Given the description of an element on the screen output the (x, y) to click on. 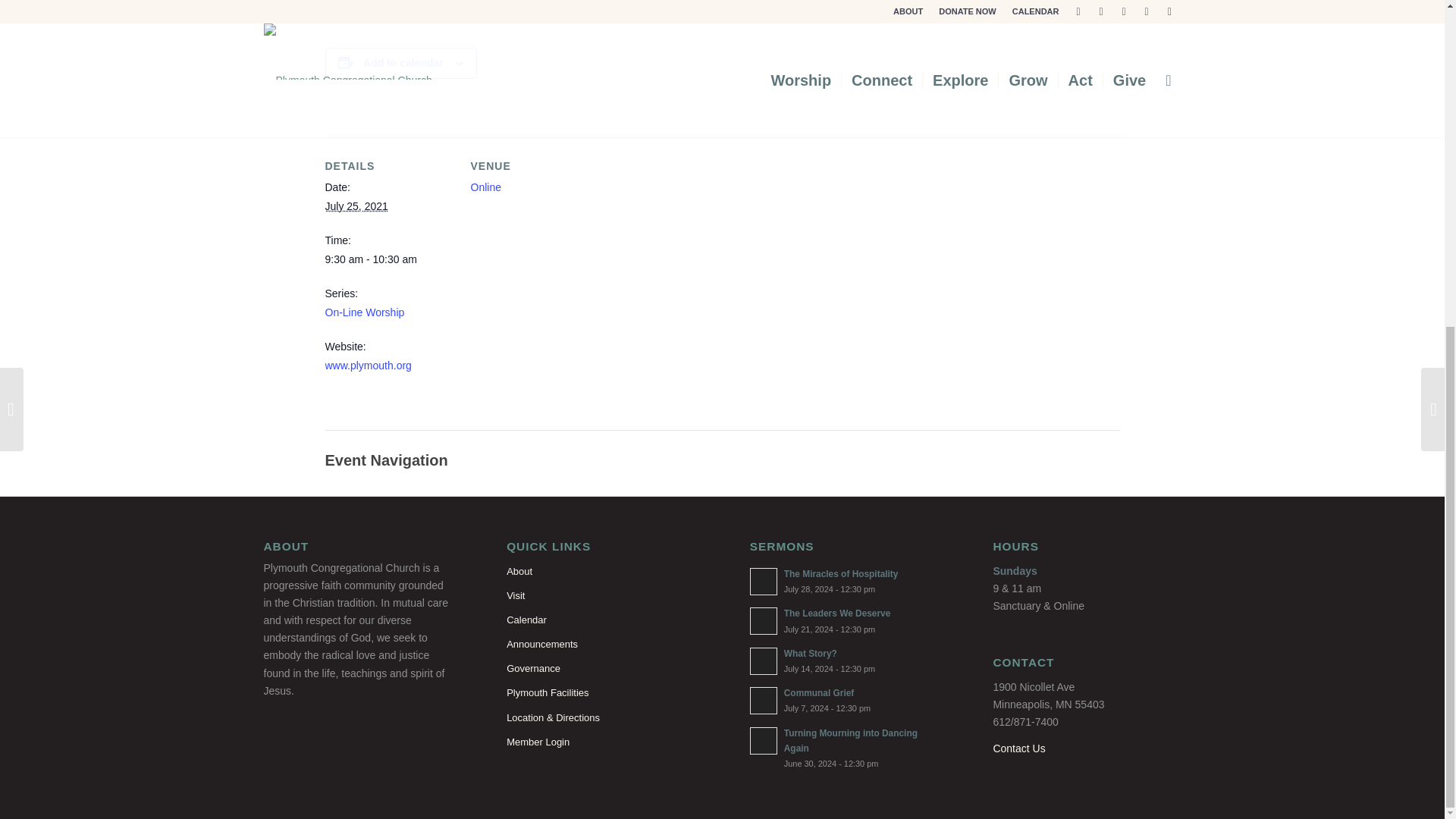
Calendar (600, 620)
Member Login (600, 742)
About (600, 571)
Visit (600, 595)
Governance (600, 668)
Plymouth Facilities (600, 692)
On-Line Worship (364, 312)
2021-07-25 (355, 205)
Add to calendar (403, 62)
Online (485, 186)
2021-07-25 (387, 259)
www.plymouth.org (367, 365)
Announcements (600, 644)
